Given the description of an element on the screen output the (x, y) to click on. 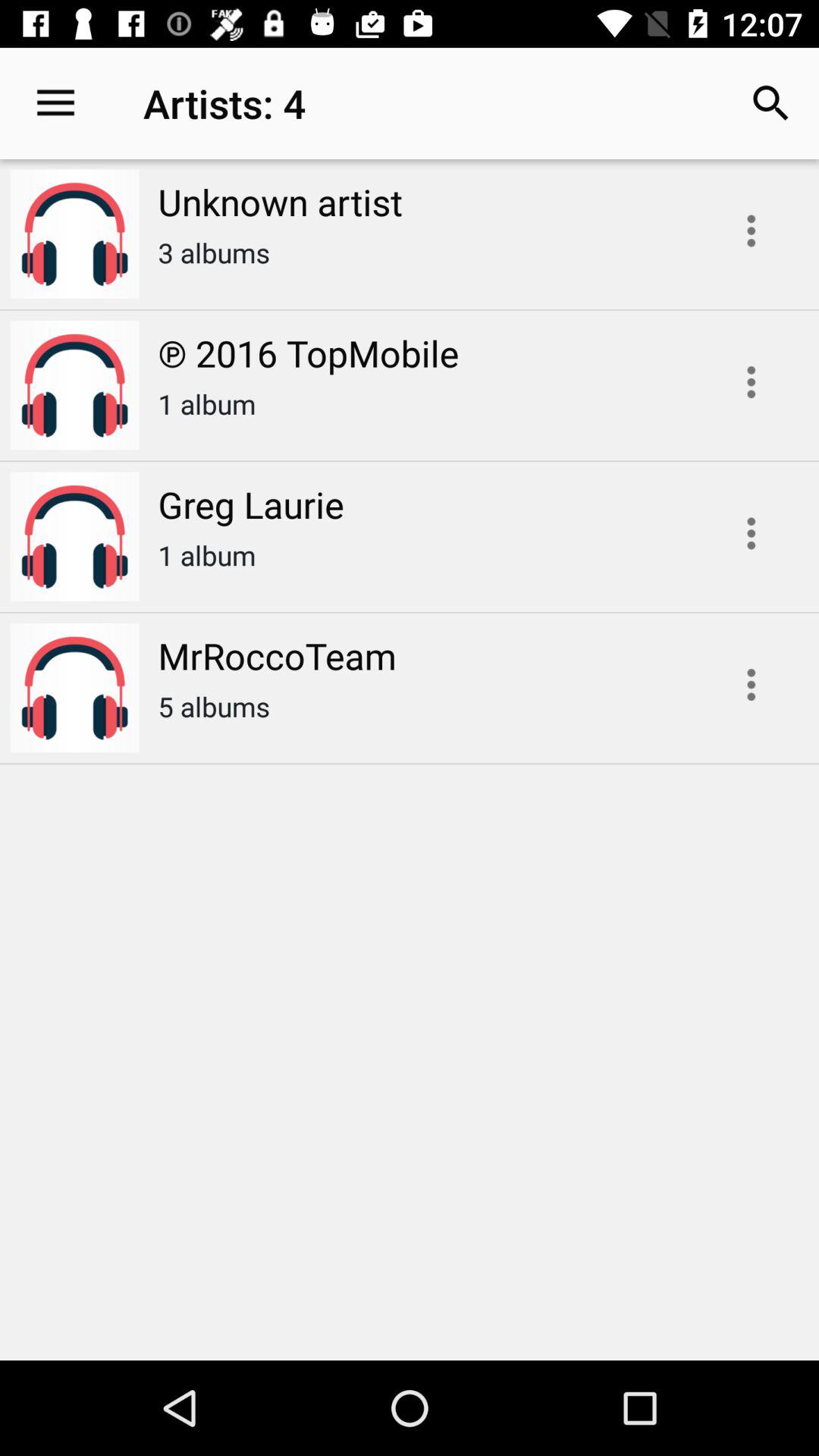
menu selection (750, 533)
